Given the description of an element on the screen output the (x, y) to click on. 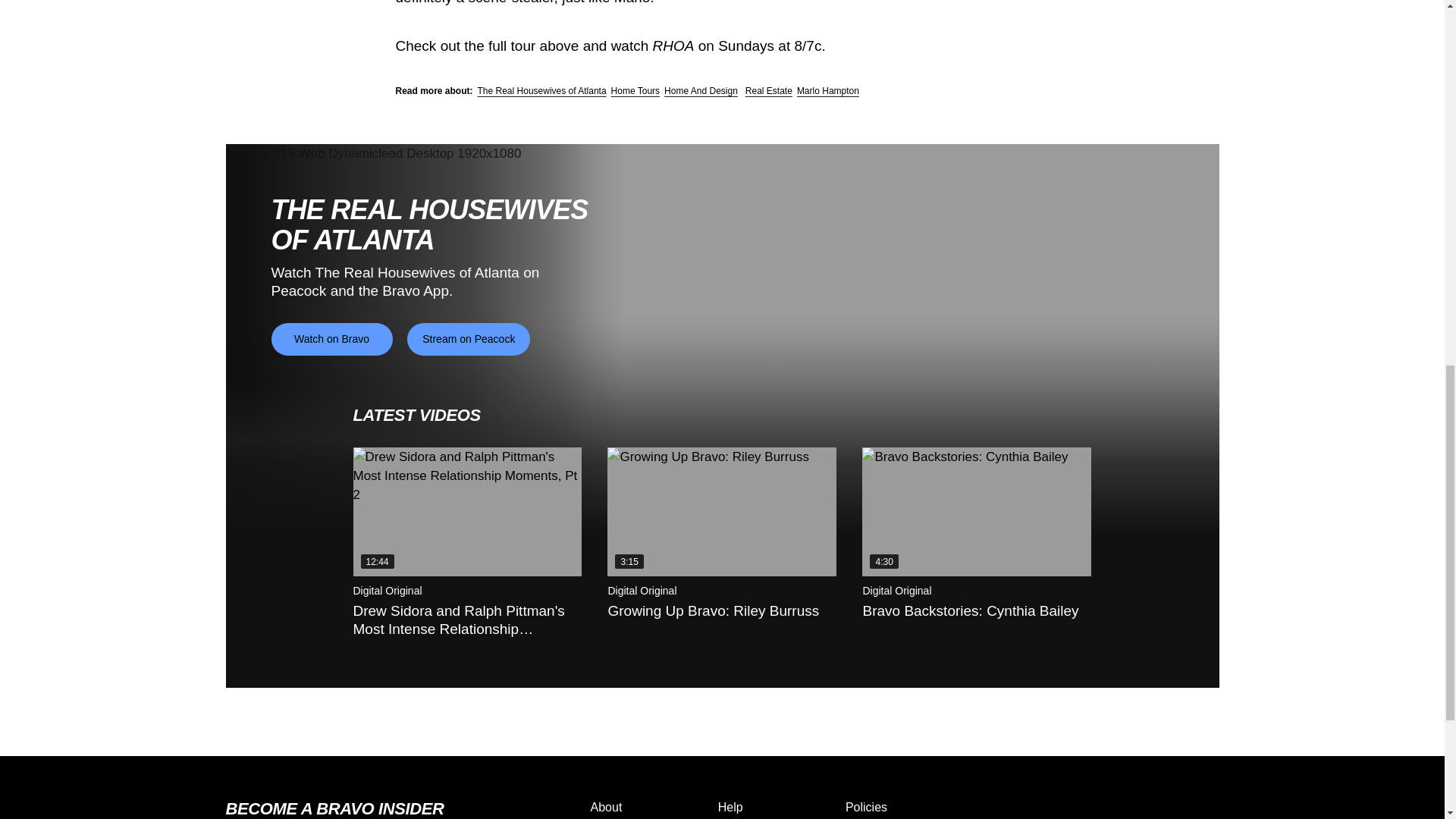
Bravo Backstories: Cynthia Bailey (975, 511)
Marlo Hampton (827, 90)
The Real Housewives of Atlanta (542, 90)
Growing Up Bravo: Riley Burruss (721, 511)
Home Tours (635, 90)
Home And Design (700, 90)
Real Estate (768, 90)
